Given the description of an element on the screen output the (x, y) to click on. 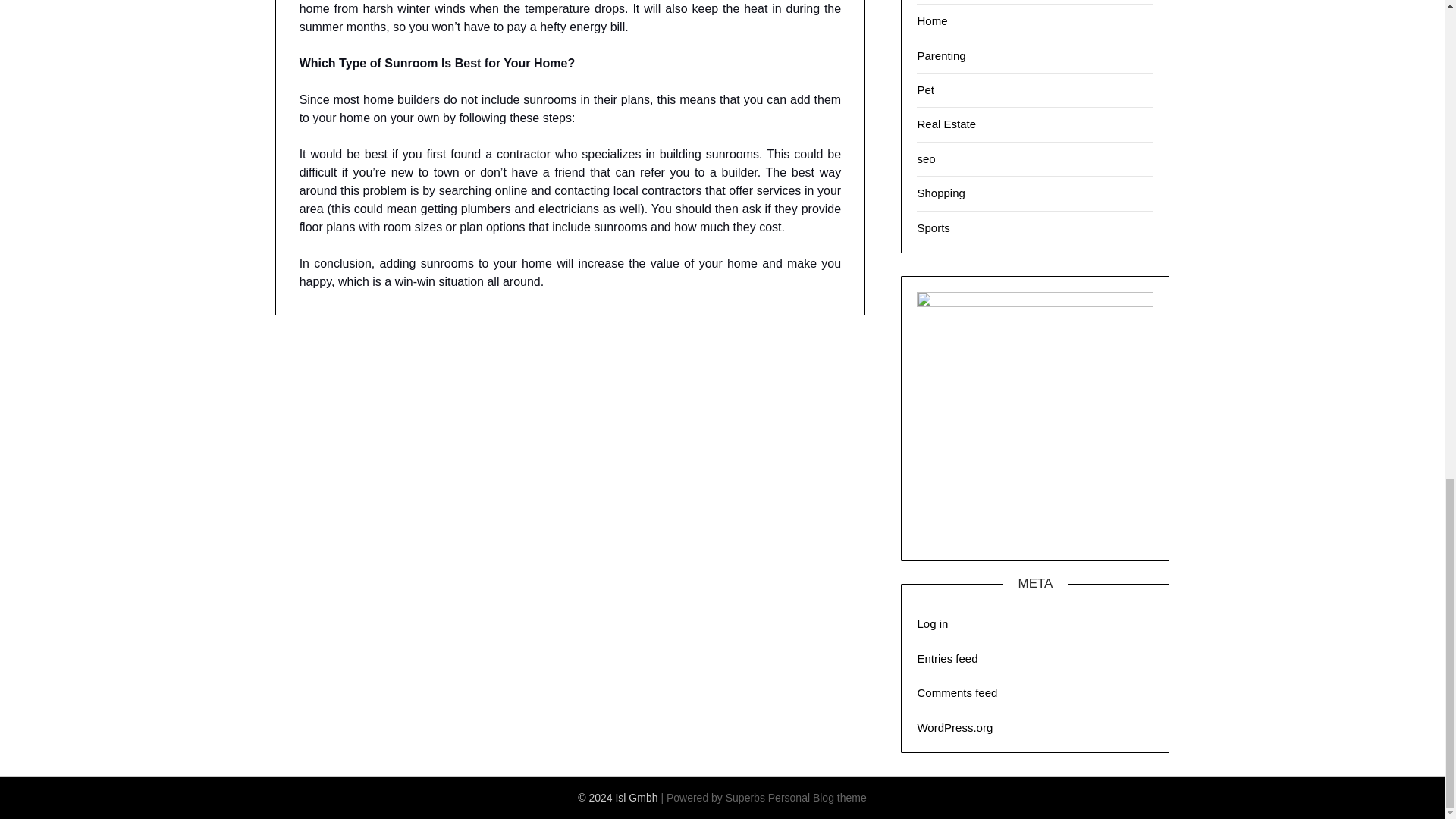
Real Estate (946, 123)
Pet (925, 89)
Personal Blog theme (817, 797)
seo (925, 158)
Parenting (941, 55)
Log in (932, 623)
Entries feed (946, 658)
Comments feed (957, 692)
Sports (933, 227)
Shopping (940, 192)
